Given the description of an element on the screen output the (x, y) to click on. 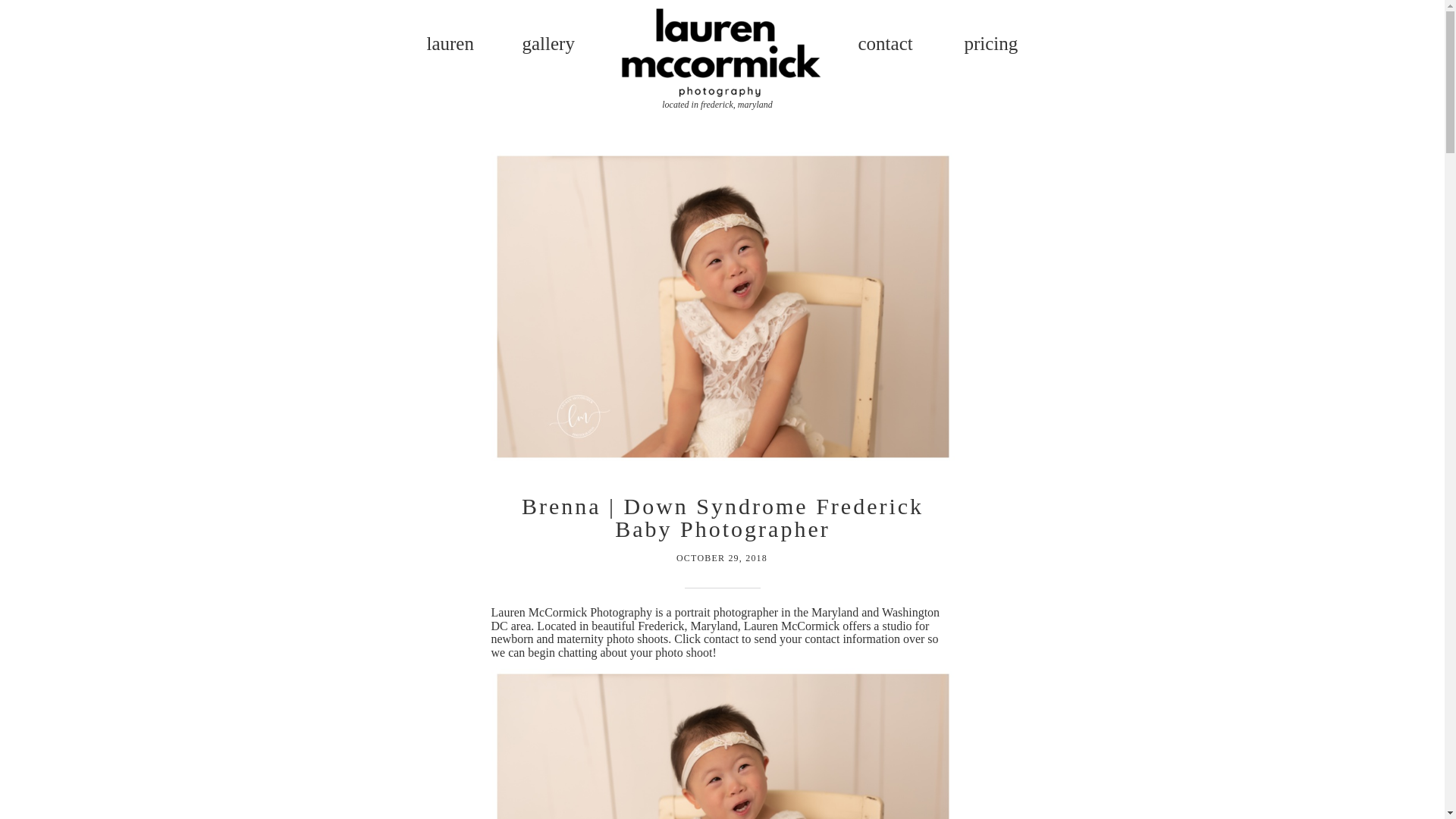
contact (891, 48)
lauren (453, 45)
gallery (548, 48)
pricing (991, 45)
